Given the description of an element on the screen output the (x, y) to click on. 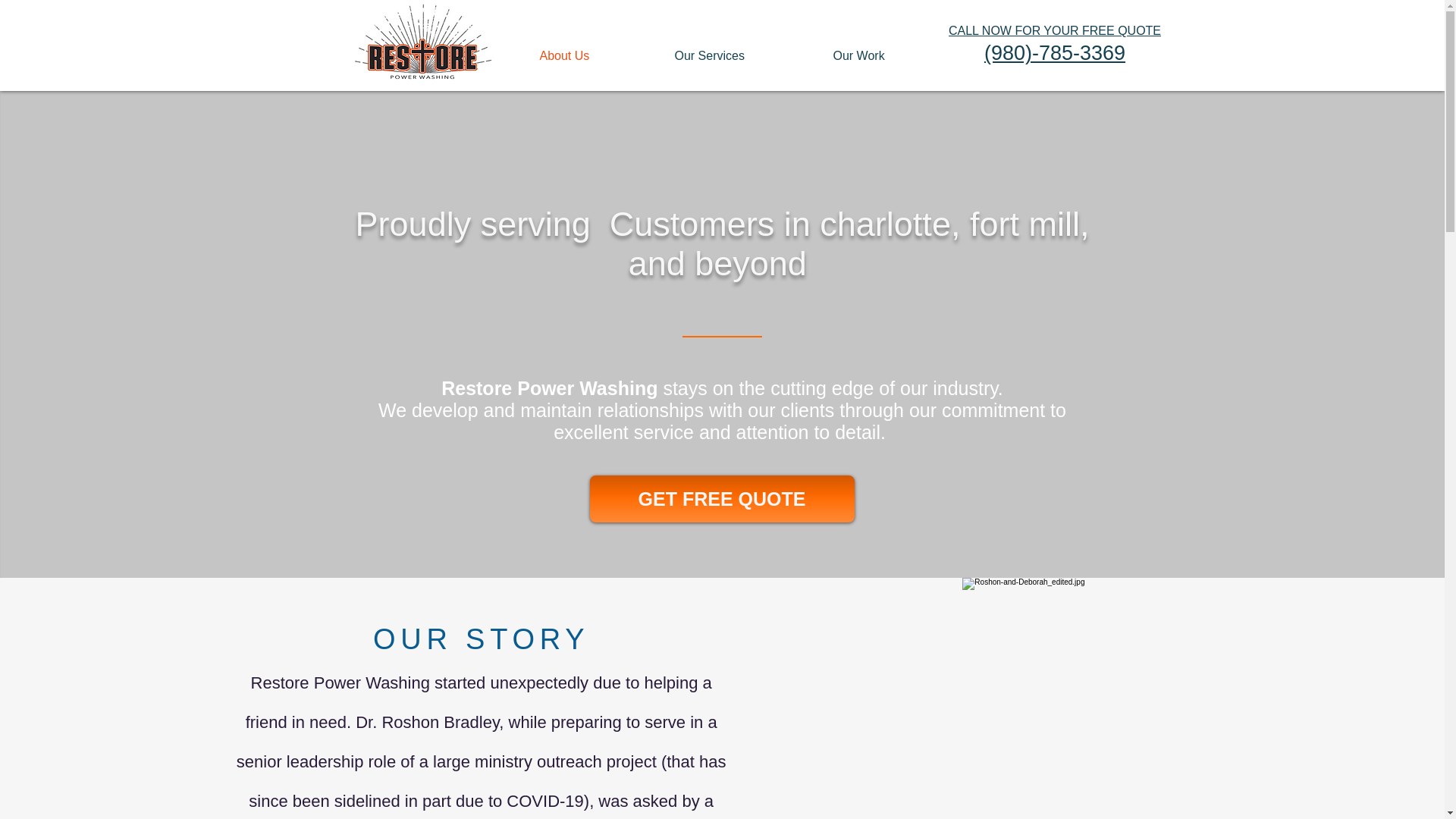
Our Work (890, 55)
Our Services (741, 55)
About Us (594, 55)
CALL NOW FOR YOUR FREE QUOTE (1054, 30)
GET FREE QUOTE (721, 498)
